Given the description of an element on the screen output the (x, y) to click on. 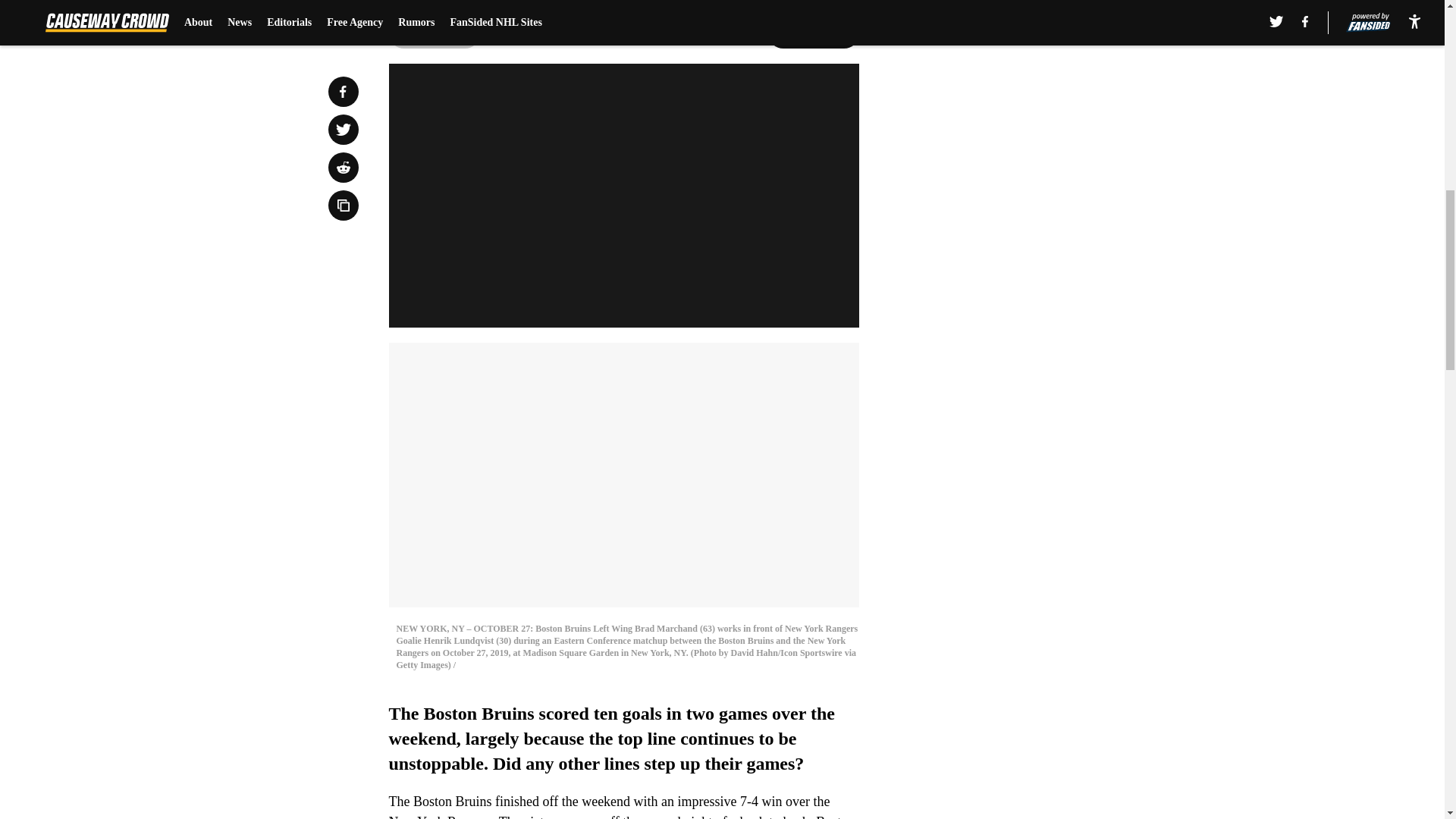
3rd party ad content (1047, 113)
3rd party ad content (1047, 332)
Next (813, 33)
Prev (433, 33)
